Given the description of an element on the screen output the (x, y) to click on. 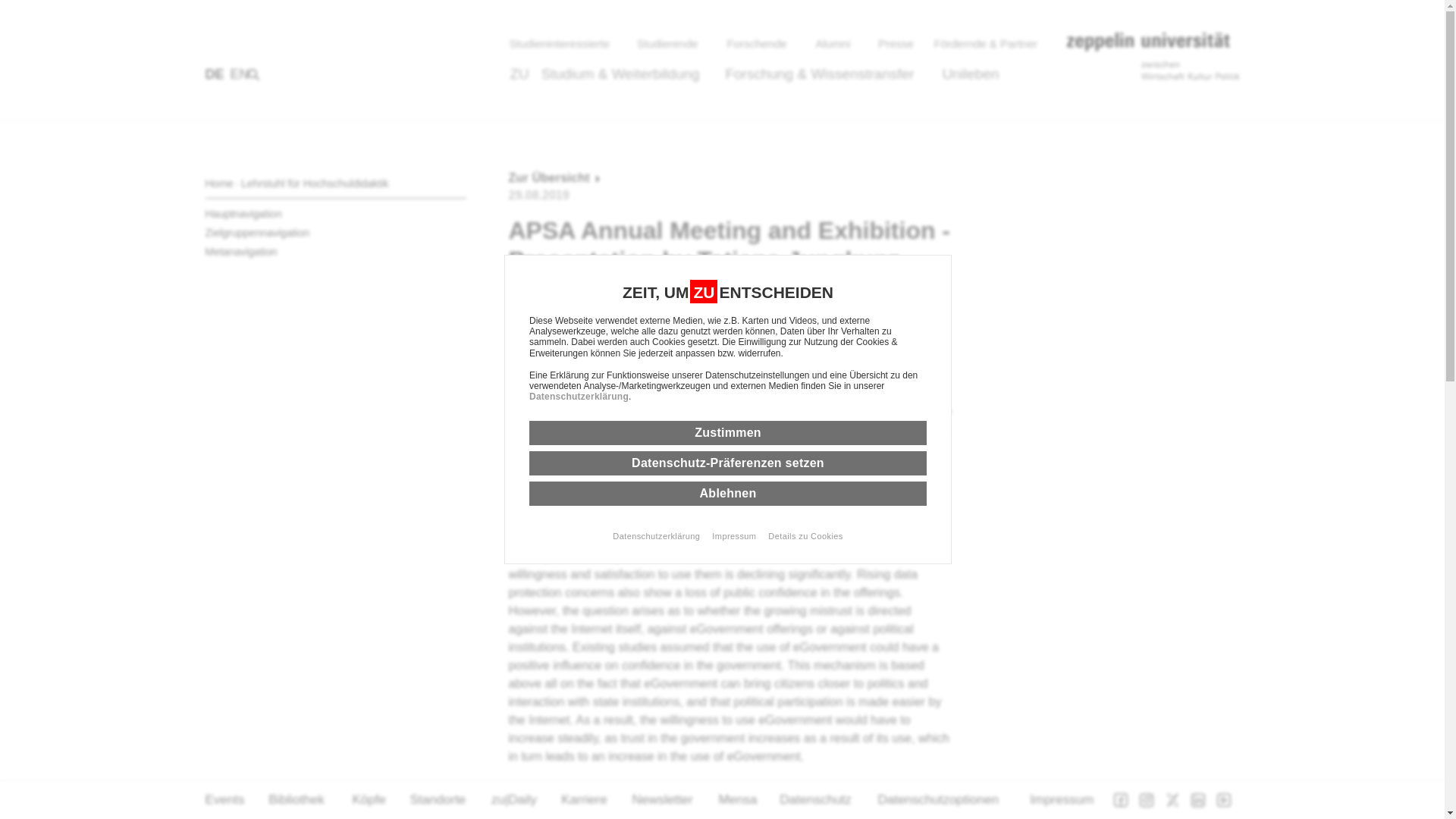
Zur Startseite (1153, 55)
Zu unserer Facebook-Seite (1119, 799)
Studierende (669, 43)
Forschende (758, 43)
Zu unserer Instagram-Seite (1145, 799)
Presse (896, 43)
Studieninteressierte (566, 43)
Zu unserem YouTube-Kanal (1222, 799)
Alumni (834, 43)
Zu unserem Twitter-Kanal (1170, 799)
Zu unserer LinkedIn-Seite (1197, 799)
